Given the description of an element on the screen output the (x, y) to click on. 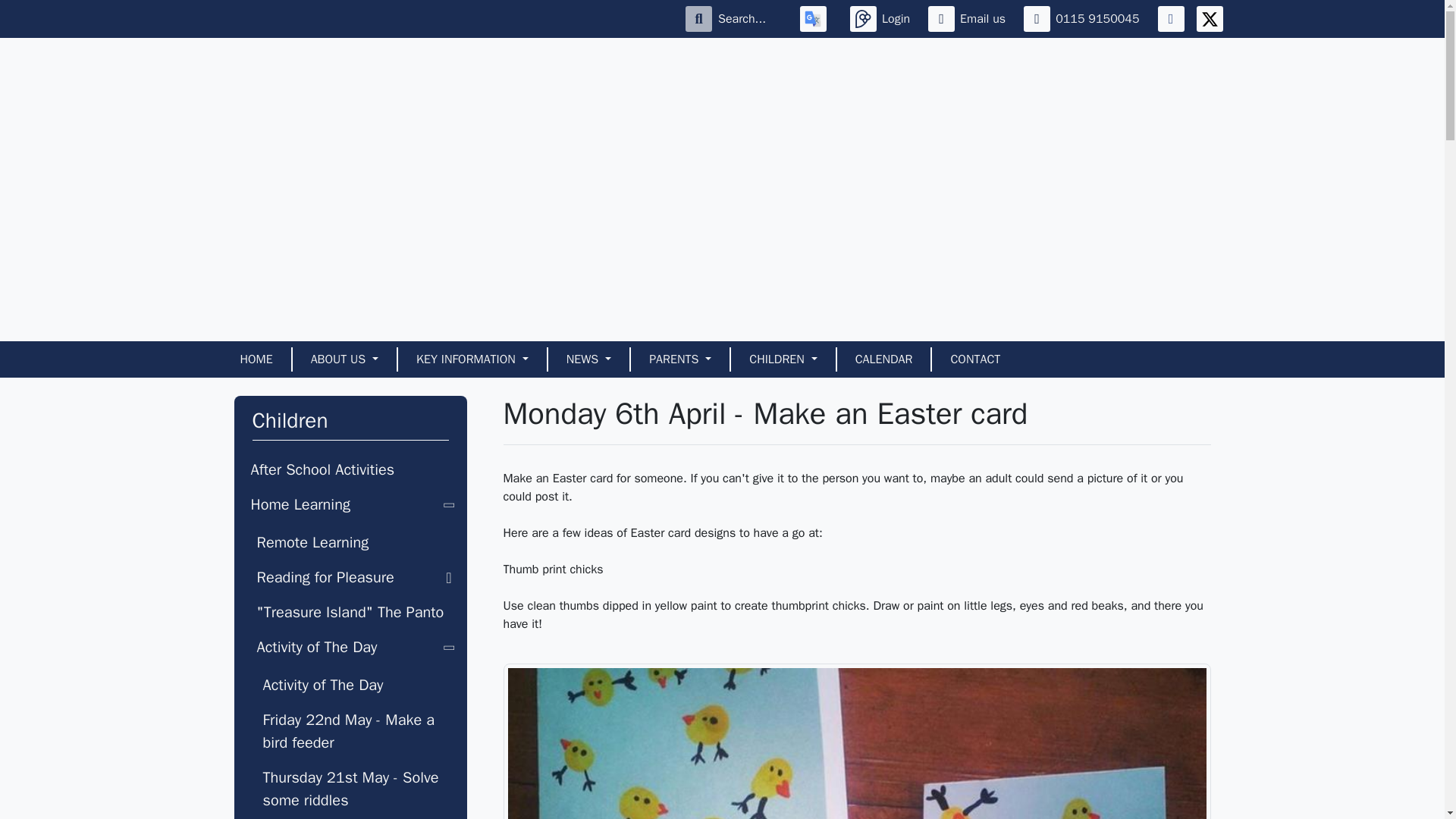
0115 9150045 (1083, 18)
Email us (969, 18)
Login (882, 18)
